Given the description of an element on the screen output the (x, y) to click on. 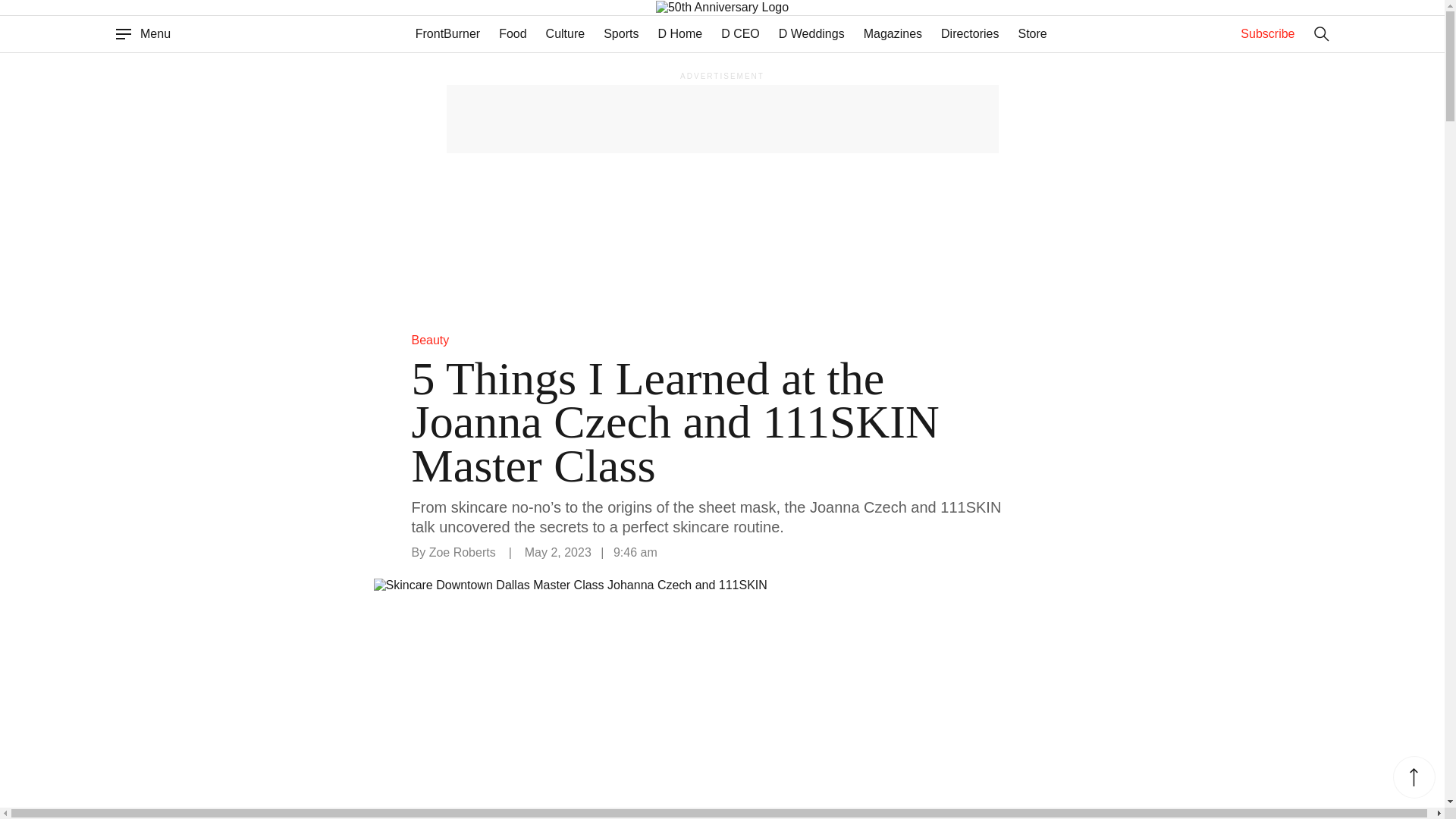
D Weddings (811, 33)
Food (512, 33)
Store (1031, 33)
D Magazine 50th Anniversary Article (752, 7)
D Magazine Home Page (683, 7)
Sports (621, 33)
D CEO (740, 33)
D Home (679, 33)
Culture (565, 33)
